Given the description of an element on the screen output the (x, y) to click on. 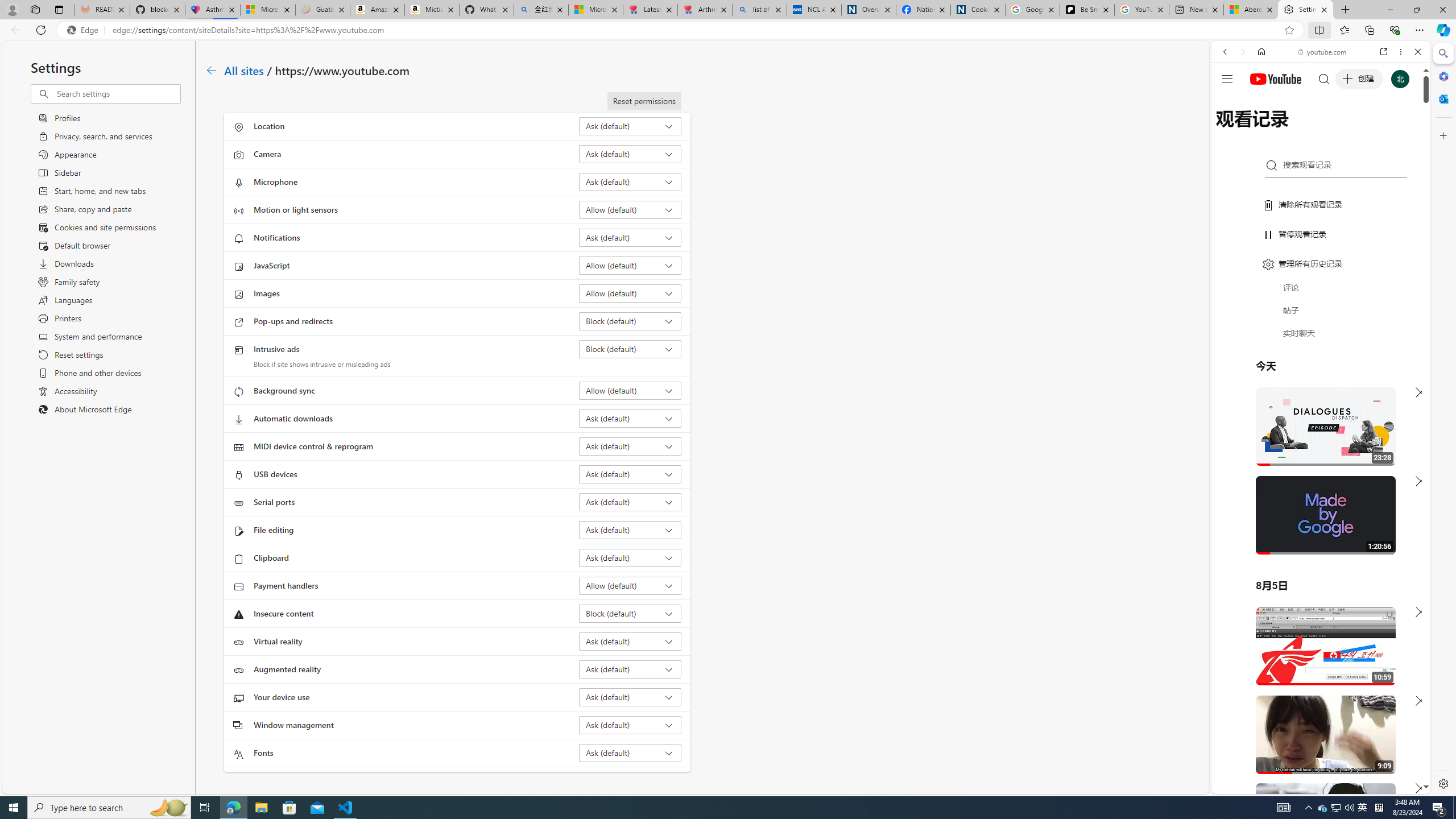
Trailer #2 [HD] (1320, 336)
Your device use Ask (default) (630, 696)
Asthma Inhalers: Names and Types (212, 9)
Augmented reality Ask (default) (630, 669)
Microphone Ask (default) (630, 181)
Class: dict_pnIcon rms_img (1312, 784)
Search the web (1326, 78)
More options (1401, 51)
JavaScript Allow (default) (630, 265)
Background sync Allow (default) (630, 390)
